Given the description of an element on the screen output the (x, y) to click on. 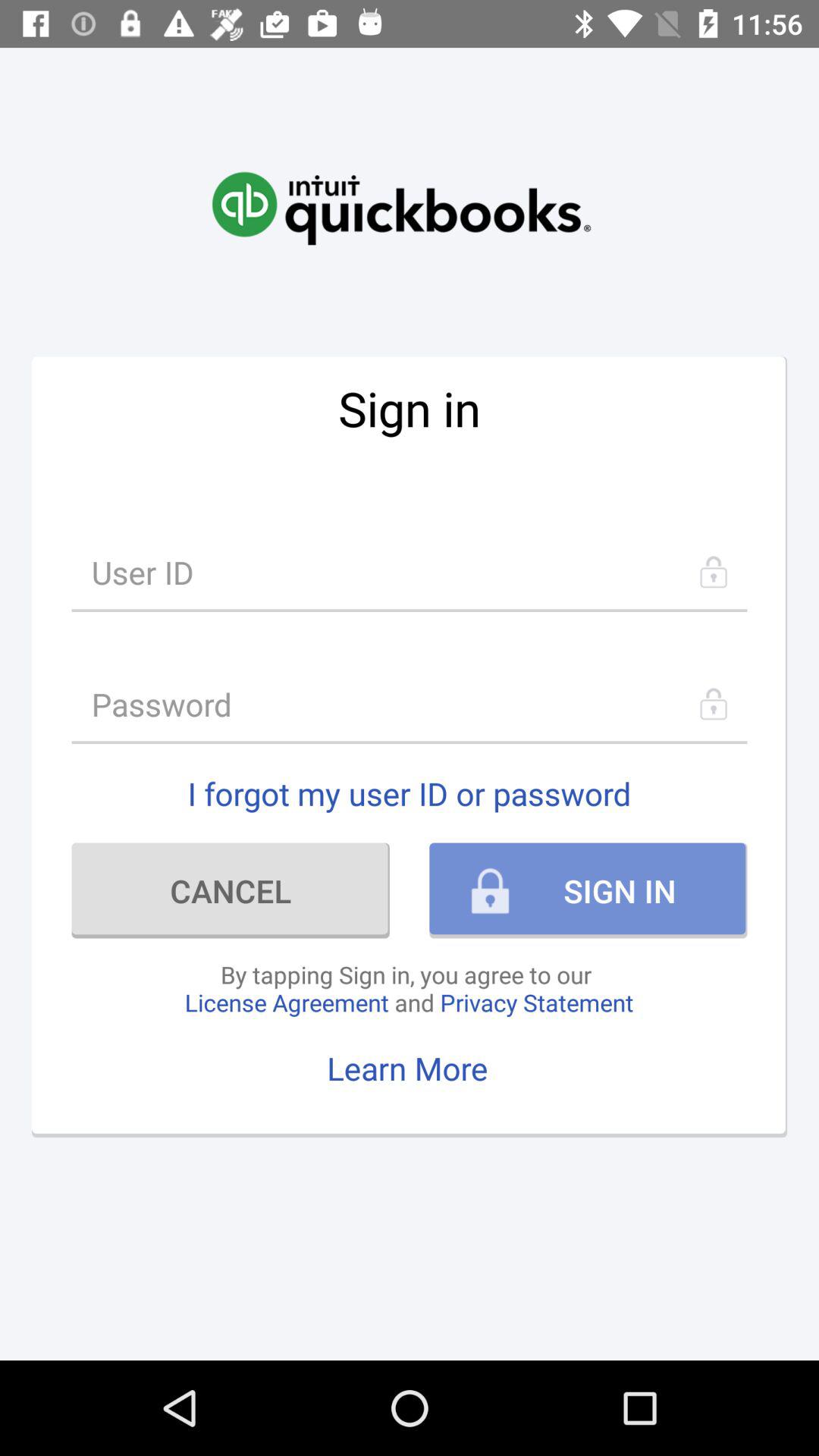
click the icon next to the sign in item (230, 890)
